Given the description of an element on the screen output the (x, y) to click on. 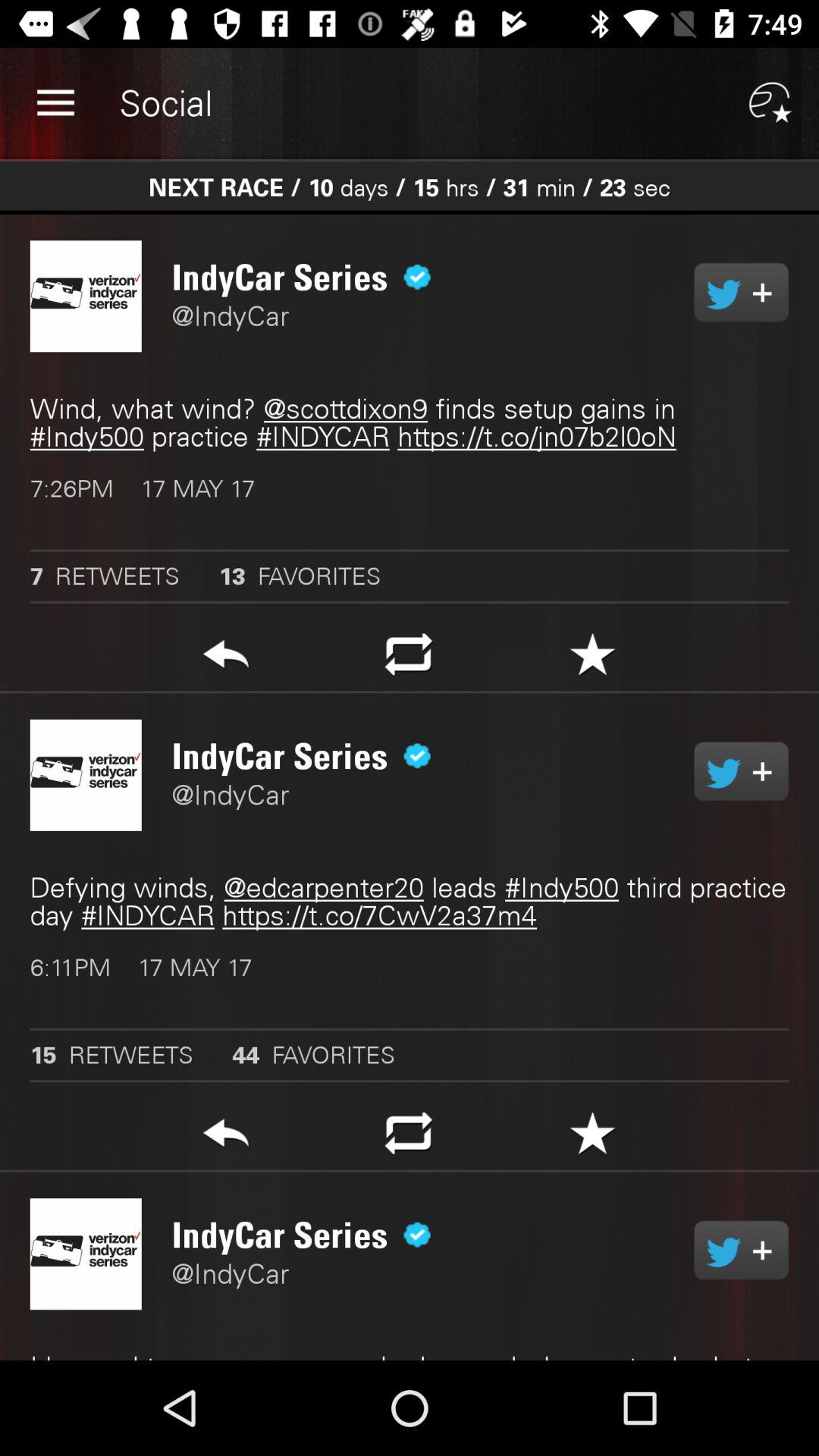
tap icon above 6 11pm 17 item (409, 901)
